Given the description of an element on the screen output the (x, y) to click on. 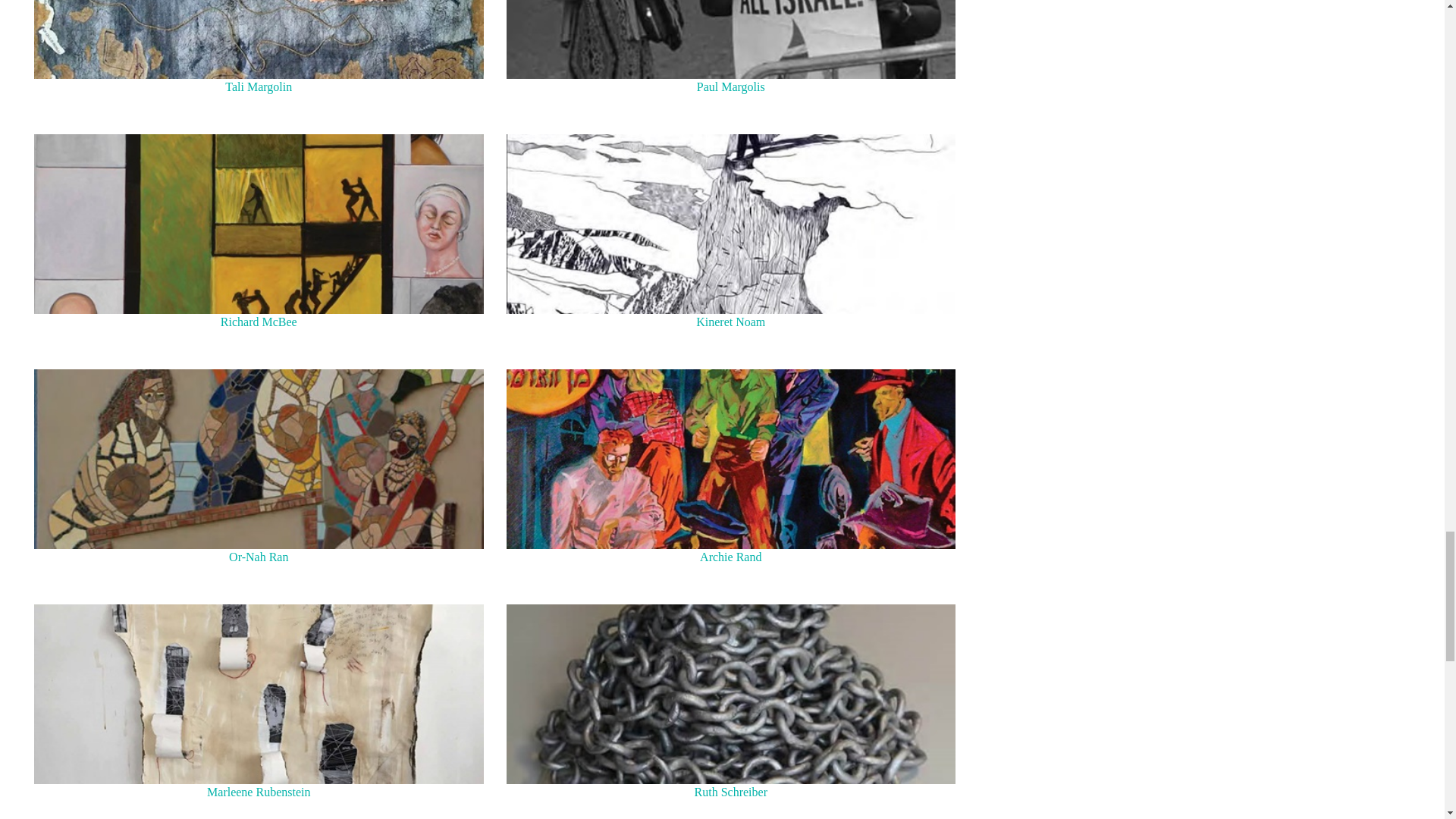
Tali Margolin (258, 39)
